Given the description of an element on the screen output the (x, y) to click on. 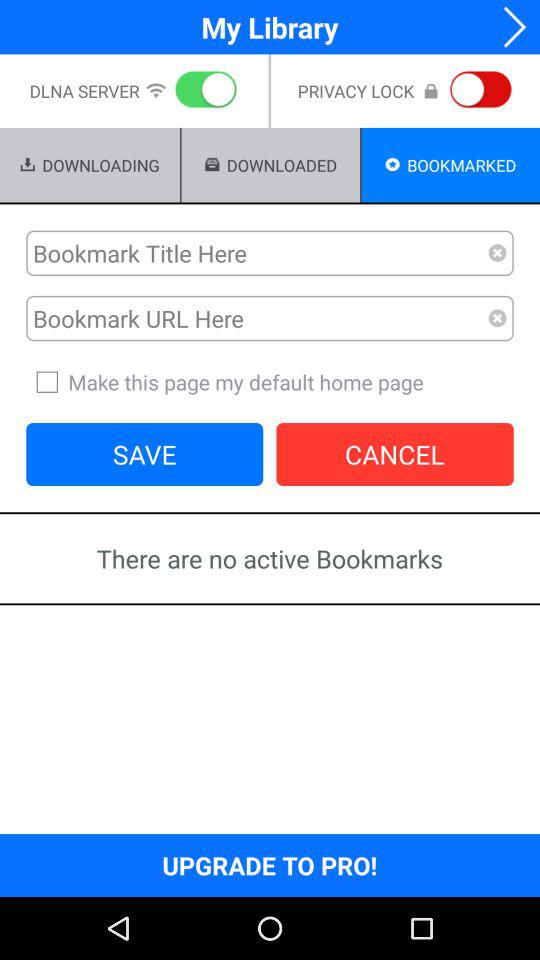
remove url (497, 318)
